Given the description of an element on the screen output the (x, y) to click on. 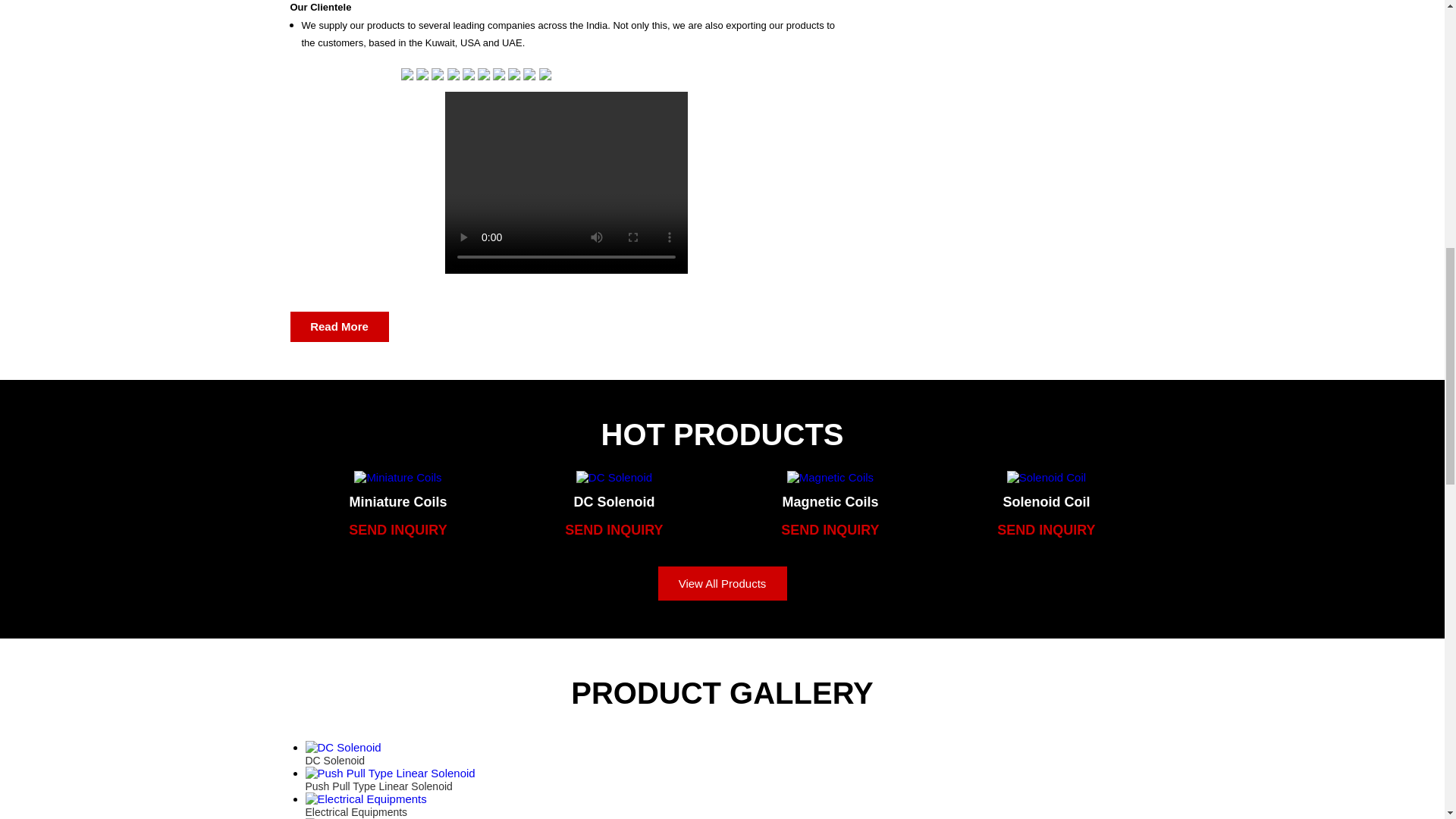
SEND INQUIRY (1046, 529)
Solenoid Coil (1046, 477)
Miniature Coils (398, 502)
Read More (338, 327)
SEND INQUIRY (830, 529)
Magnetic Coils (830, 477)
Magnetic Coils (830, 502)
SEND INQUIRY (614, 529)
Solenoid Coil (1046, 502)
Miniature Coils (397, 477)
